Given the description of an element on the screen output the (x, y) to click on. 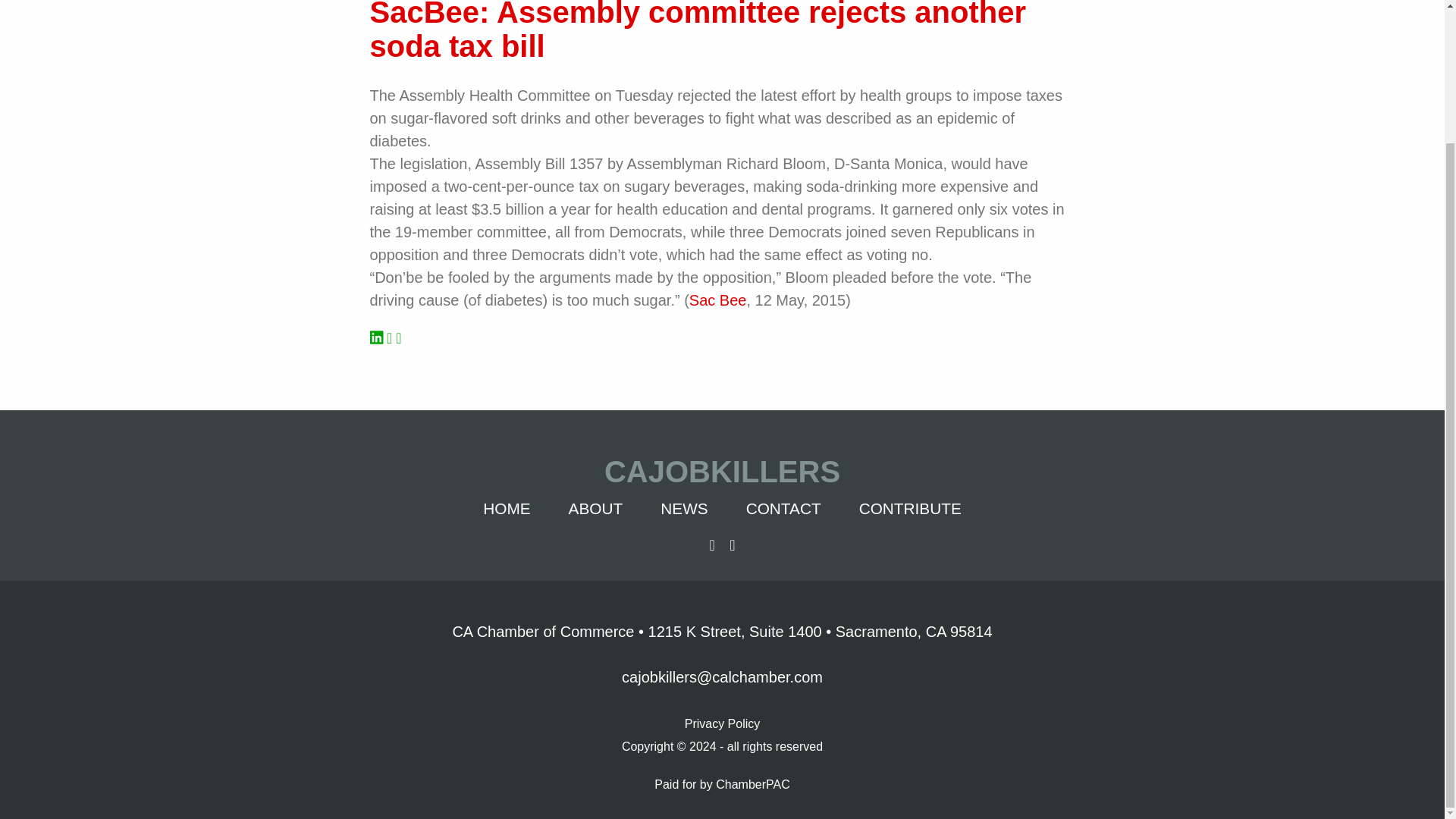
ABOUT (596, 507)
Sac Bee (717, 299)
NEWS (684, 507)
CAJOBKILLERS (722, 471)
Privacy Policy (722, 722)
CONTACT (783, 507)
HOME (506, 507)
CONTRIBUTE (909, 507)
